Given the description of an element on the screen output the (x, y) to click on. 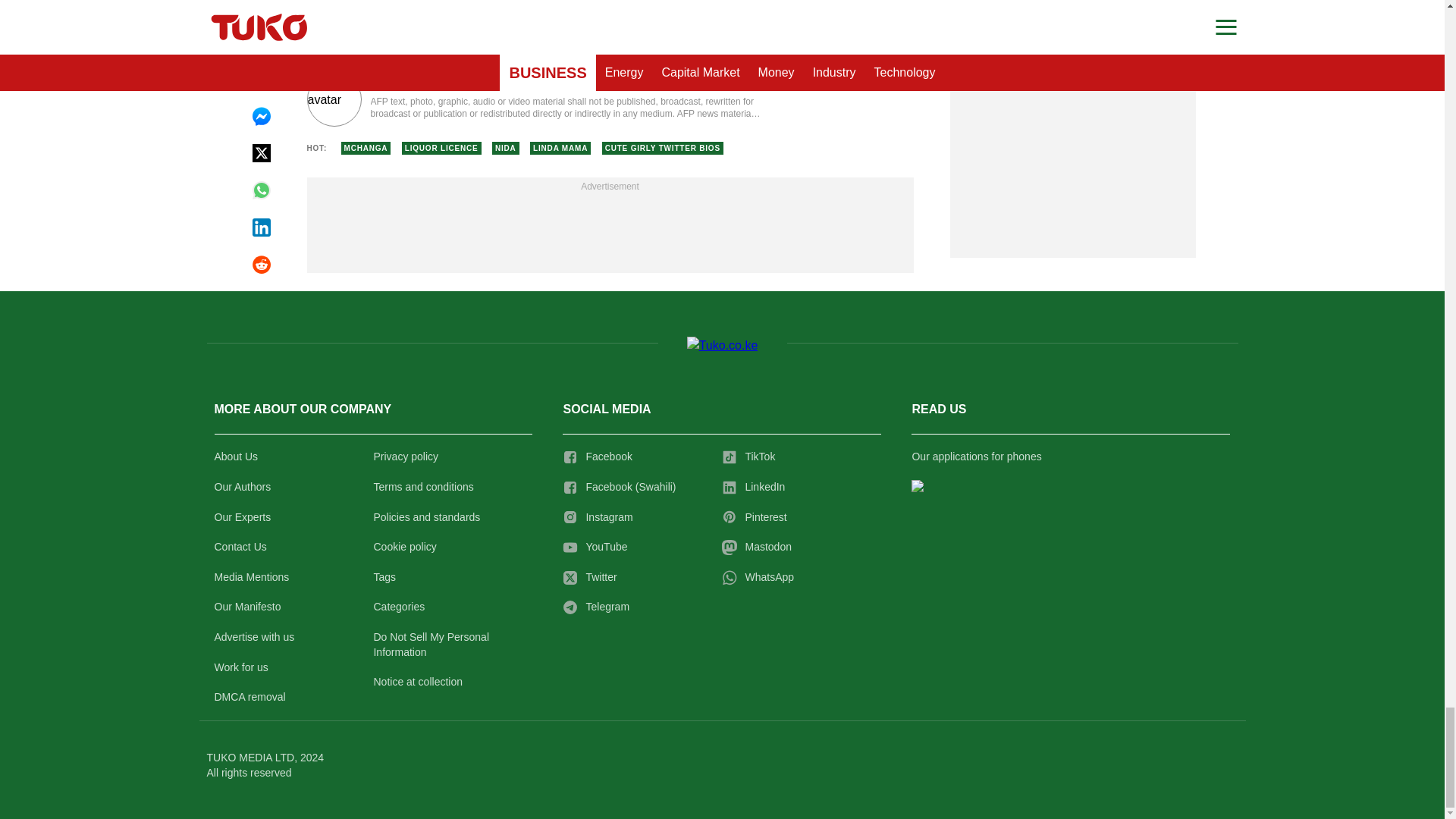
Author page (533, 99)
